Given the description of an element on the screen output the (x, y) to click on. 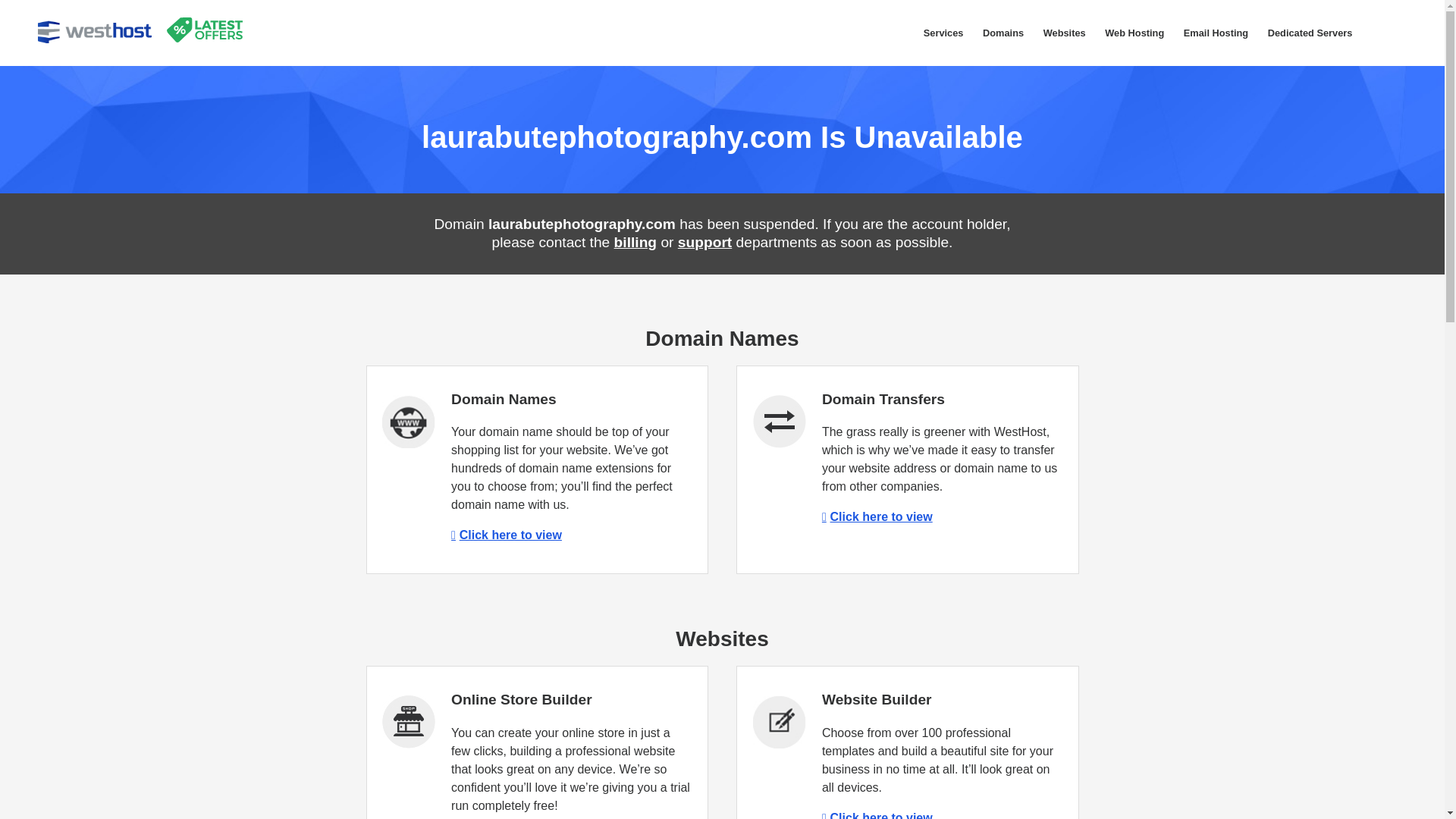
Websites (1064, 32)
Click here to view (877, 815)
billing (636, 242)
Click here to view (877, 516)
Dedicated Servers (1309, 32)
Click here to view (506, 534)
support (705, 242)
Web Hosting (1133, 32)
Email Hosting (1215, 32)
Services (943, 32)
Domains (1002, 32)
